Given the description of an element on the screen output the (x, y) to click on. 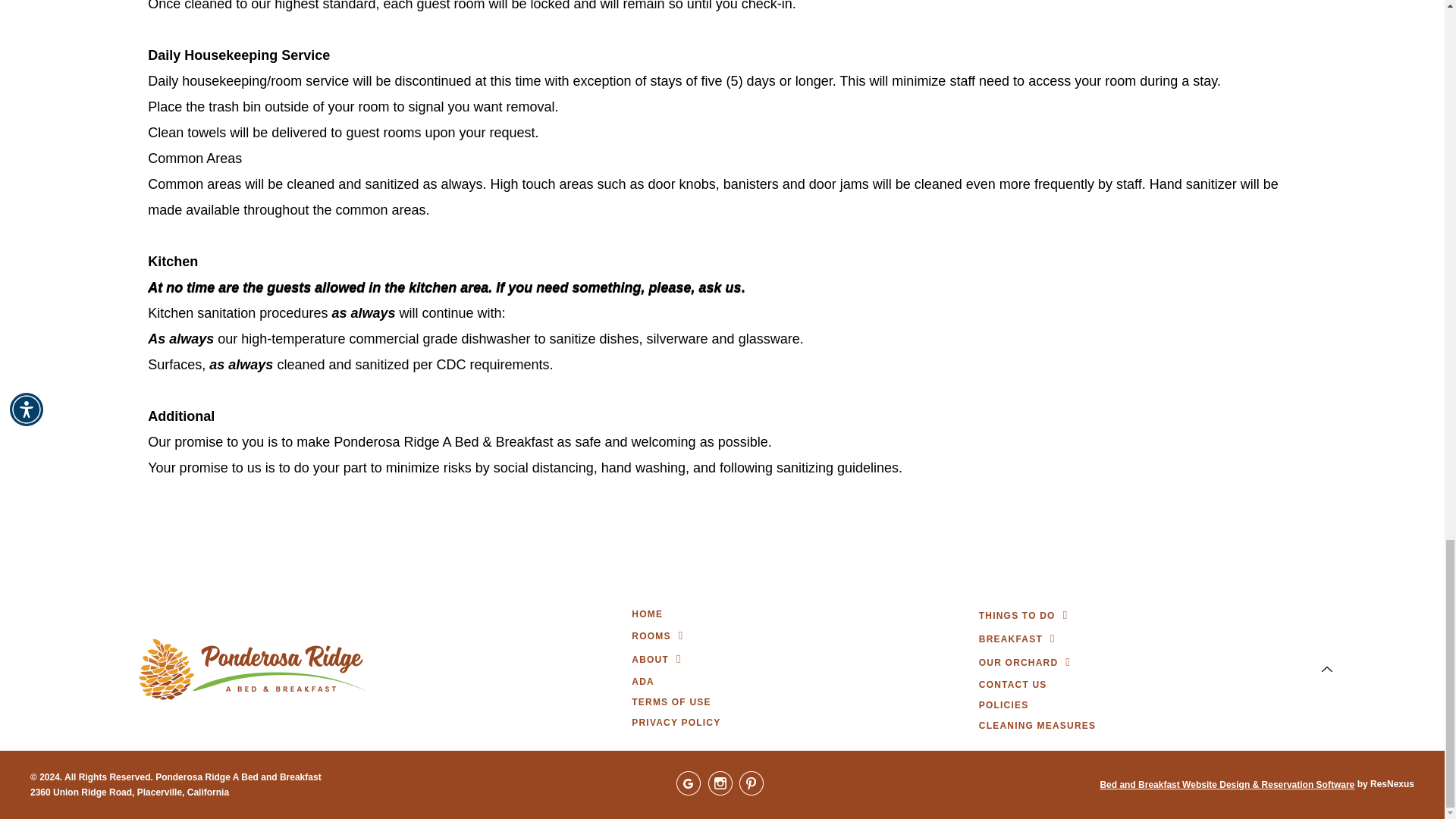
ROOMS (650, 636)
HOME (646, 614)
ABOUT (649, 659)
